Given the description of an element on the screen output the (x, y) to click on. 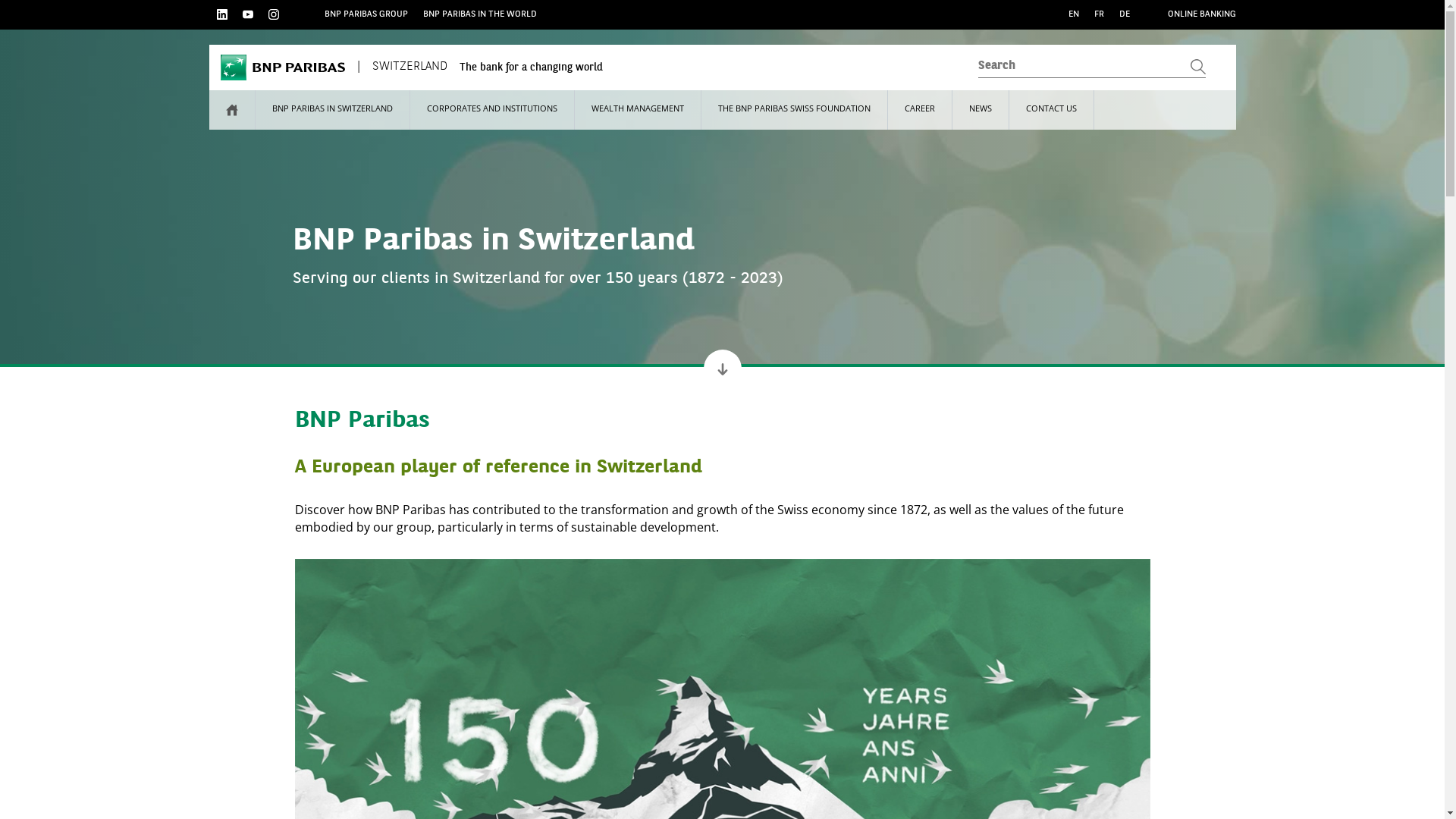
CONTACT US Element type: text (1050, 109)
BNP PARIBAS GROUP Element type: text (365, 14)
DIRECT ACCESS TO SEARCH Element type: text (53, 4)
INSTAGRAM Element type: text (273, 14)
THE BNP PARIBAS SWISS FOUNDATION Element type: text (793, 109)
BNP PARIBAS IN THE WORLD Element type: text (479, 14)
DIRECT ACCESS TO MAIN MENU Element type: text (62, 4)
DIRECT ACCESS TO ONLINE BANKING MENU Element type: text (85, 4)
LINKEDIN Element type: text (222, 14)
CORPORATES AND INSTITUTIONS Element type: text (491, 109)
DIRECT ACCESS TO CONTENT Element type: text (57, 4)
WEALTH MANAGEMENT Element type: text (637, 109)
BNP PARIBAS IN SWITZERLAND Element type: text (331, 109)
HOME Element type: text (231, 109)
FR Element type: text (1097, 14)
Scroll down Element type: hover (722, 368)
DE Element type: text (1124, 14)
BNP Paribas Element type: text (281, 67)
EN Element type: text (1072, 14)
NEWS Element type: text (980, 109)
YOUTUBE Element type: text (247, 14)
ONLINE BANKING Element type: text (1201, 14)
Search Element type: text (1091, 67)
CAREER Element type: text (918, 109)
